Given the description of an element on the screen output the (x, y) to click on. 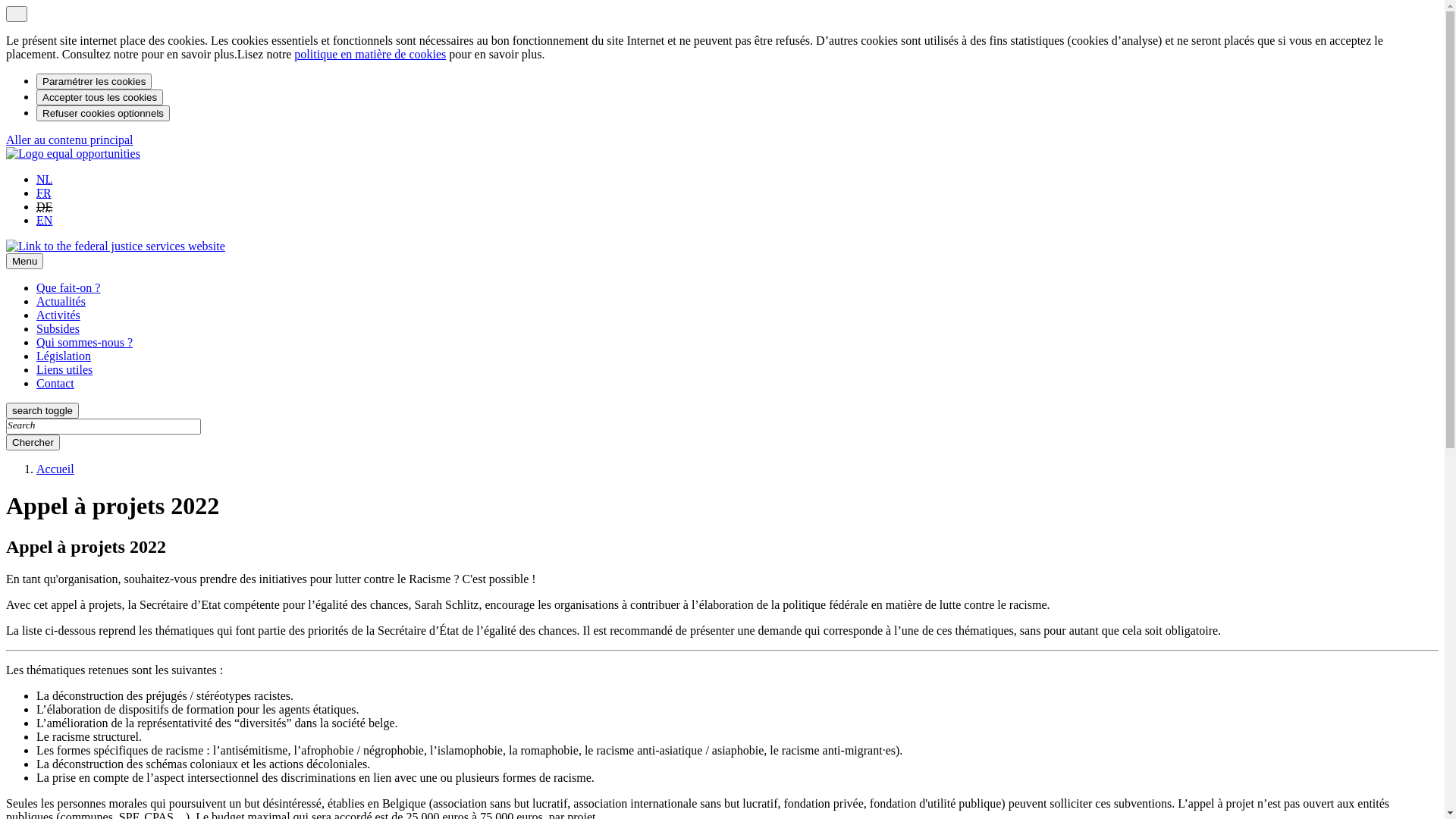
Contact Element type: text (55, 382)
Accepter tous les cookies Element type: text (99, 97)
Chercher Element type: text (32, 442)
Fermer Element type: text (16, 13)
Liens utiles Element type: text (64, 369)
Back to the home page Element type: hover (73, 153)
Qui sommes-nous ? Element type: text (84, 341)
FR Element type: text (43, 192)
Subsides Element type: text (57, 328)
NL Element type: text (44, 178)
EN Element type: text (44, 219)
search toggle Element type: text (42, 410)
Que fait-on ? Element type: text (68, 287)
Refuser cookies optionnels Element type: text (102, 113)
Aller au contenu principal Element type: text (69, 139)
Menu Element type: text (24, 261)
Accueil Element type: text (55, 468)
